Given the description of an element on the screen output the (x, y) to click on. 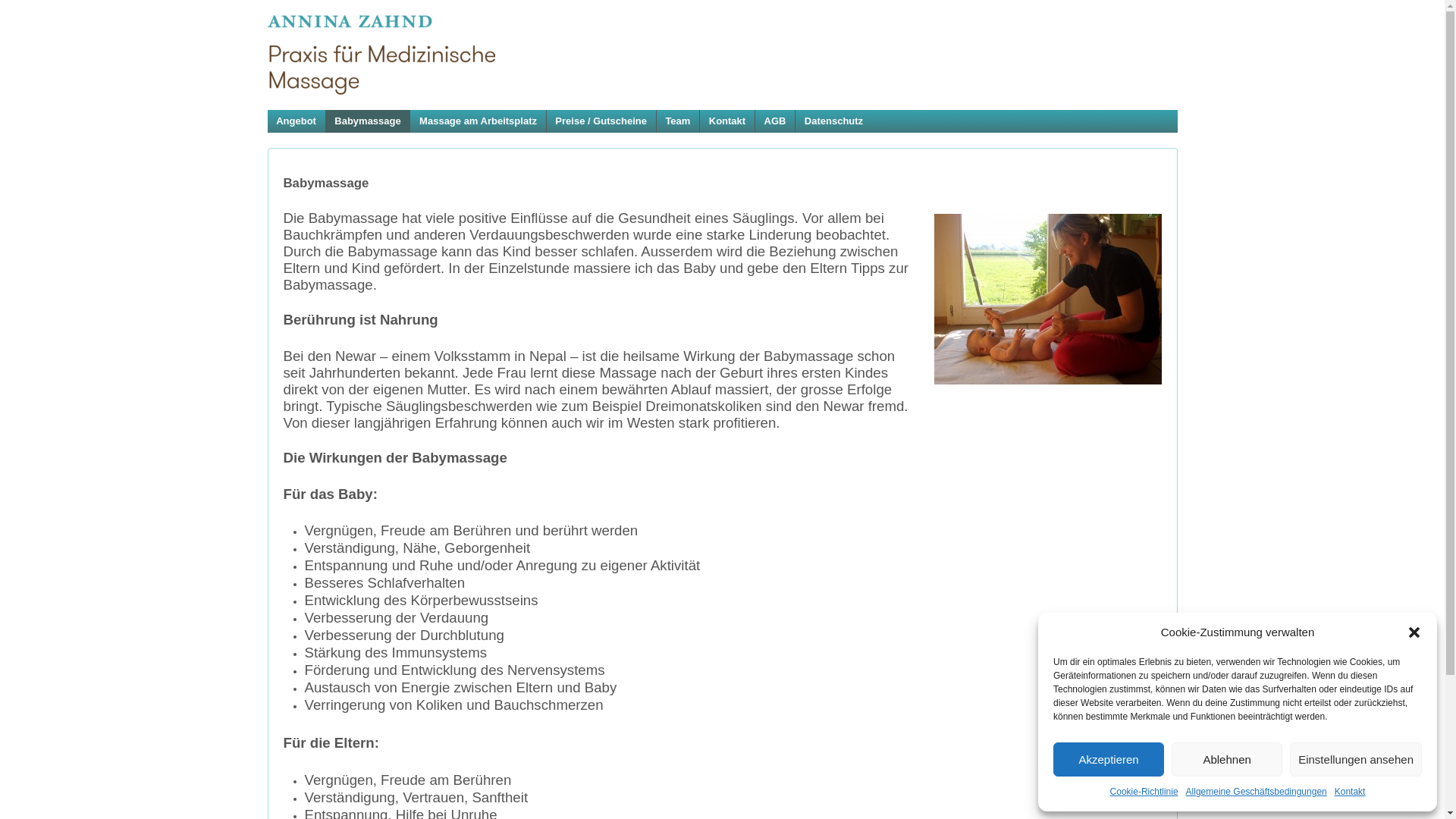
Preise / Gutscheine Element type: text (600, 120)
Cookie-Richtlinie Element type: text (1144, 792)
Team Element type: text (677, 120)
Kontakt Element type: text (726, 120)
Angebot Element type: text (295, 120)
Ablehnen Element type: text (1226, 759)
Datenschutz Element type: text (833, 120)
Kontakt Element type: text (1349, 792)
Einstellungen ansehen Element type: text (1355, 759)
Babymassage Element type: text (367, 120)
Akzeptieren Element type: text (1108, 759)
AGB Element type: text (774, 120)
Massage am Arbeitsplatz Element type: text (477, 120)
